Given the description of an element on the screen output the (x, y) to click on. 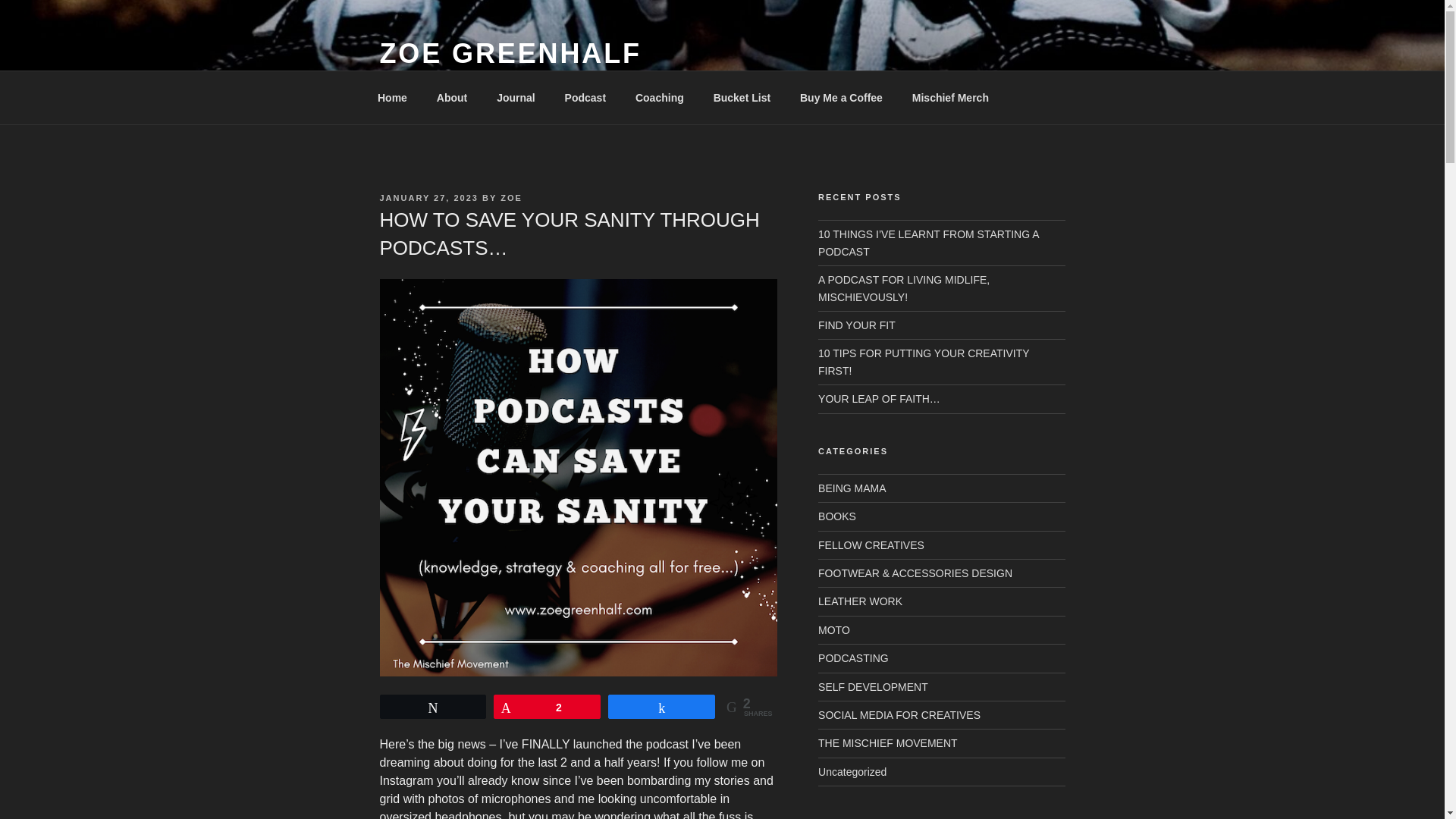
Journal (515, 97)
Coaching (659, 97)
Home (392, 97)
ZOE GREENHALF (509, 52)
Take Action Now! (196, 15)
Buy Me a Coffee (840, 97)
Mischief Merch (949, 97)
2 (547, 706)
JANUARY 27, 2023 (427, 197)
Bucket List (741, 97)
